Given the description of an element on the screen output the (x, y) to click on. 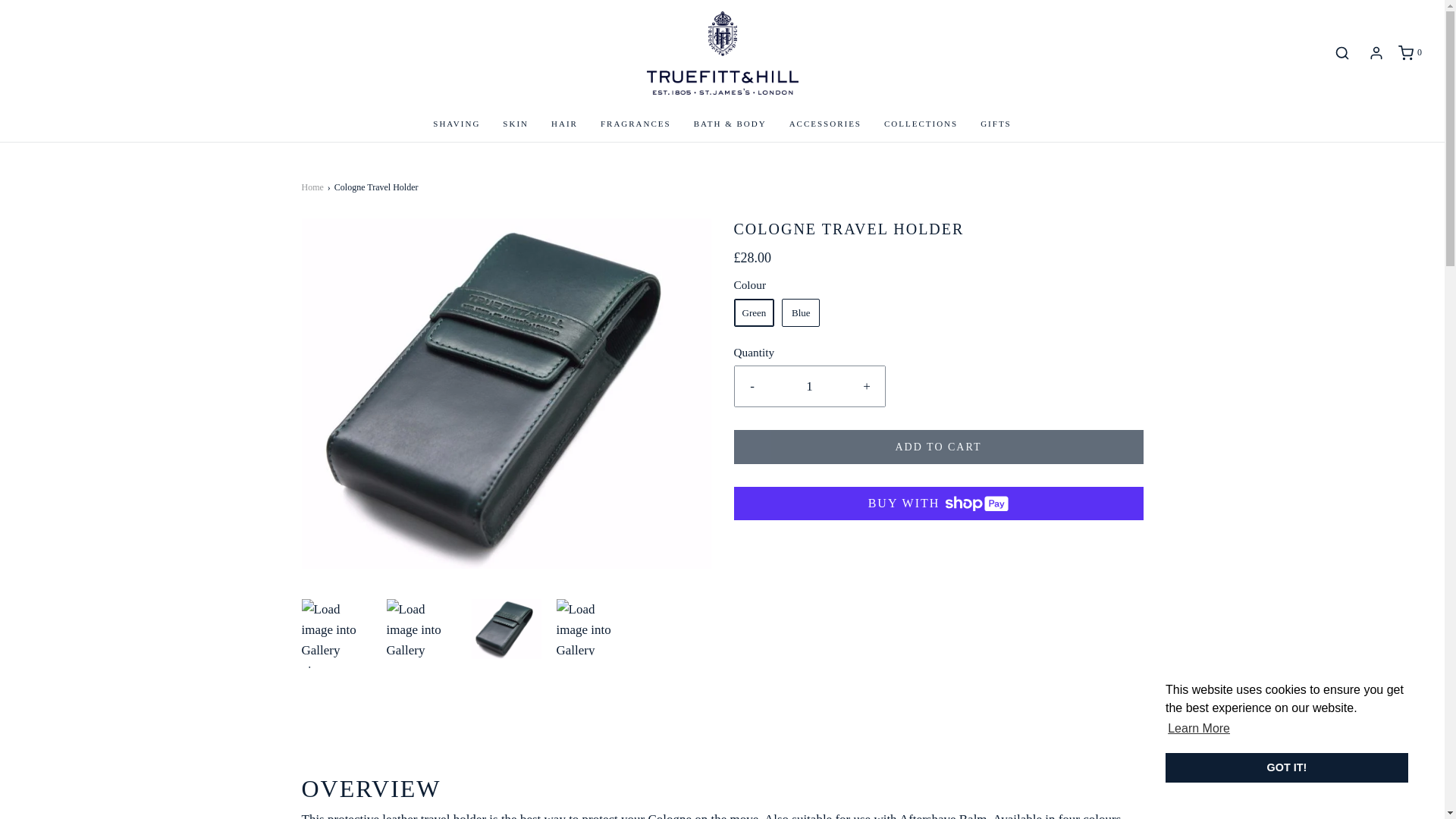
Search (1341, 53)
1 (809, 386)
Back to the frontpage (314, 187)
Log in (1376, 52)
GOT IT! (1286, 767)
Learn More (1198, 728)
Cart (1409, 52)
